Given the description of an element on the screen output the (x, y) to click on. 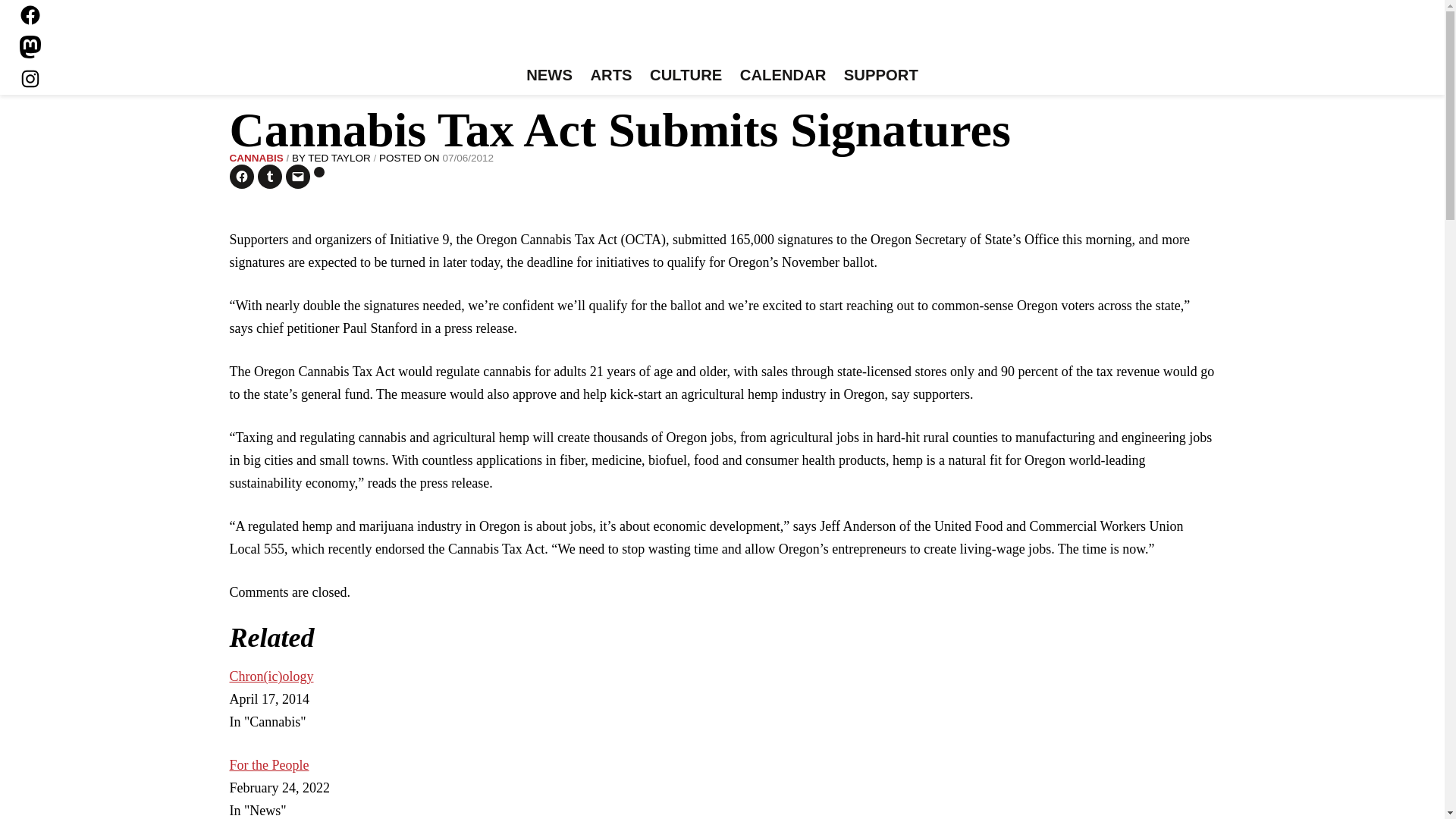
Facebook (30, 15)
CALENDAR (782, 75)
Eugene Weekly (721, 37)
SUPPORT (880, 75)
Click to share on Tumblr (269, 176)
CULTURE (685, 75)
Click to share on Facebook (240, 176)
Click to email a link to a friend (296, 176)
Click to print (319, 172)
For the People (268, 765)
Mastodon (30, 47)
NEWS (548, 75)
Instagram (30, 78)
ARTS (611, 75)
